Given the description of an element on the screen output the (x, y) to click on. 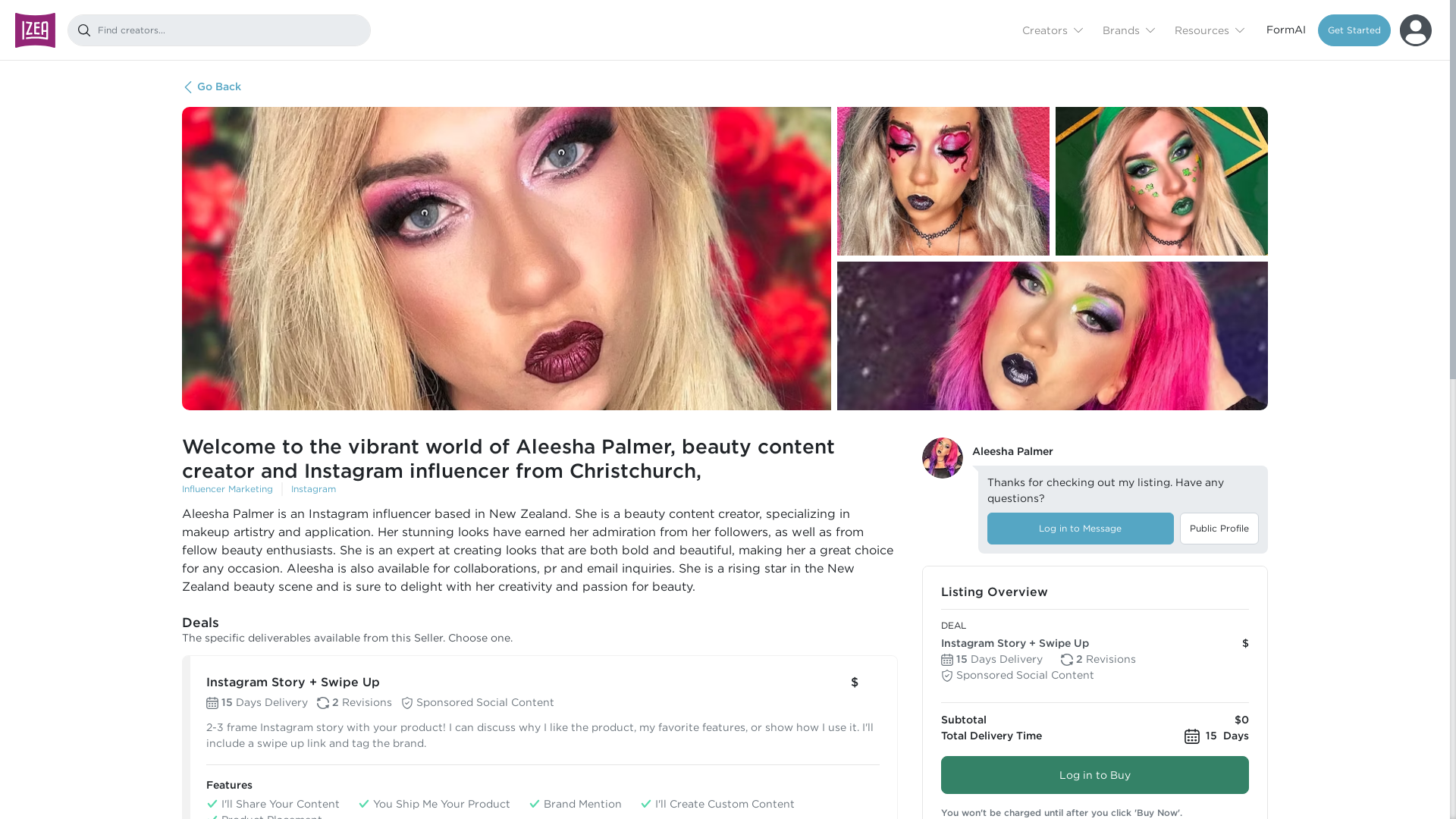
Creators (1052, 29)
Resources (1208, 29)
Brands (1128, 29)
